Given the description of an element on the screen output the (x, y) to click on. 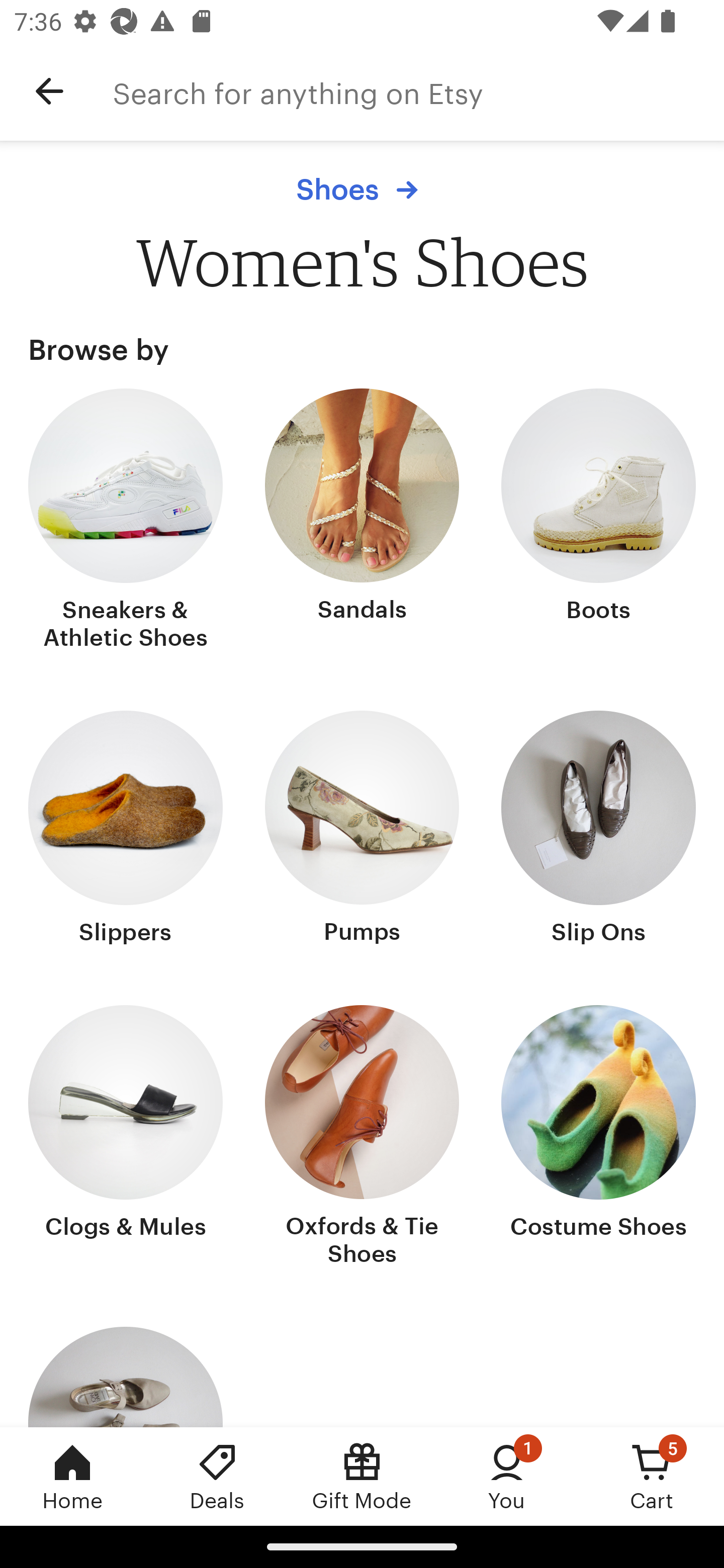
Navigate up (49, 91)
Search for anything on Etsy (418, 91)
Shoes (361, 189)
Sneakers & Athletic Shoes (125, 520)
Sandals (361, 520)
Boots (598, 520)
Slippers (125, 829)
Pumps (361, 829)
Slip Ons (598, 829)
Clogs & Mules (125, 1137)
Oxfords & Tie Shoes (361, 1137)
Costume Shoes (598, 1137)
Mary Janes (125, 1376)
Deals (216, 1475)
Gift Mode (361, 1475)
You, 1 new notification You (506, 1475)
Cart, 5 new notifications Cart (651, 1475)
